Given the description of an element on the screen output the (x, y) to click on. 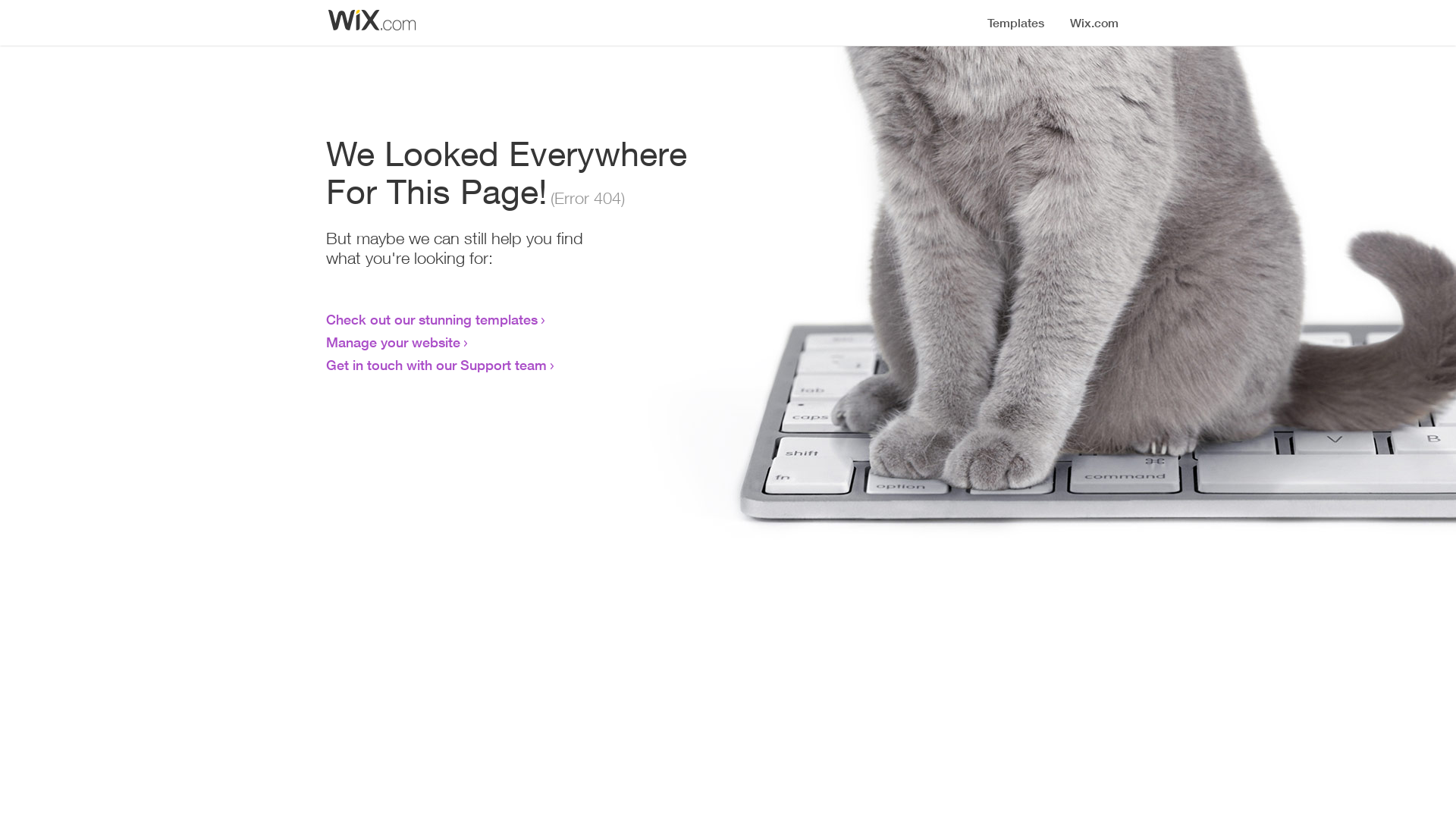
Check out our stunning templates Element type: text (431, 318)
Manage your website Element type: text (393, 341)
Get in touch with our Support team Element type: text (436, 364)
